Given the description of an element on the screen output the (x, y) to click on. 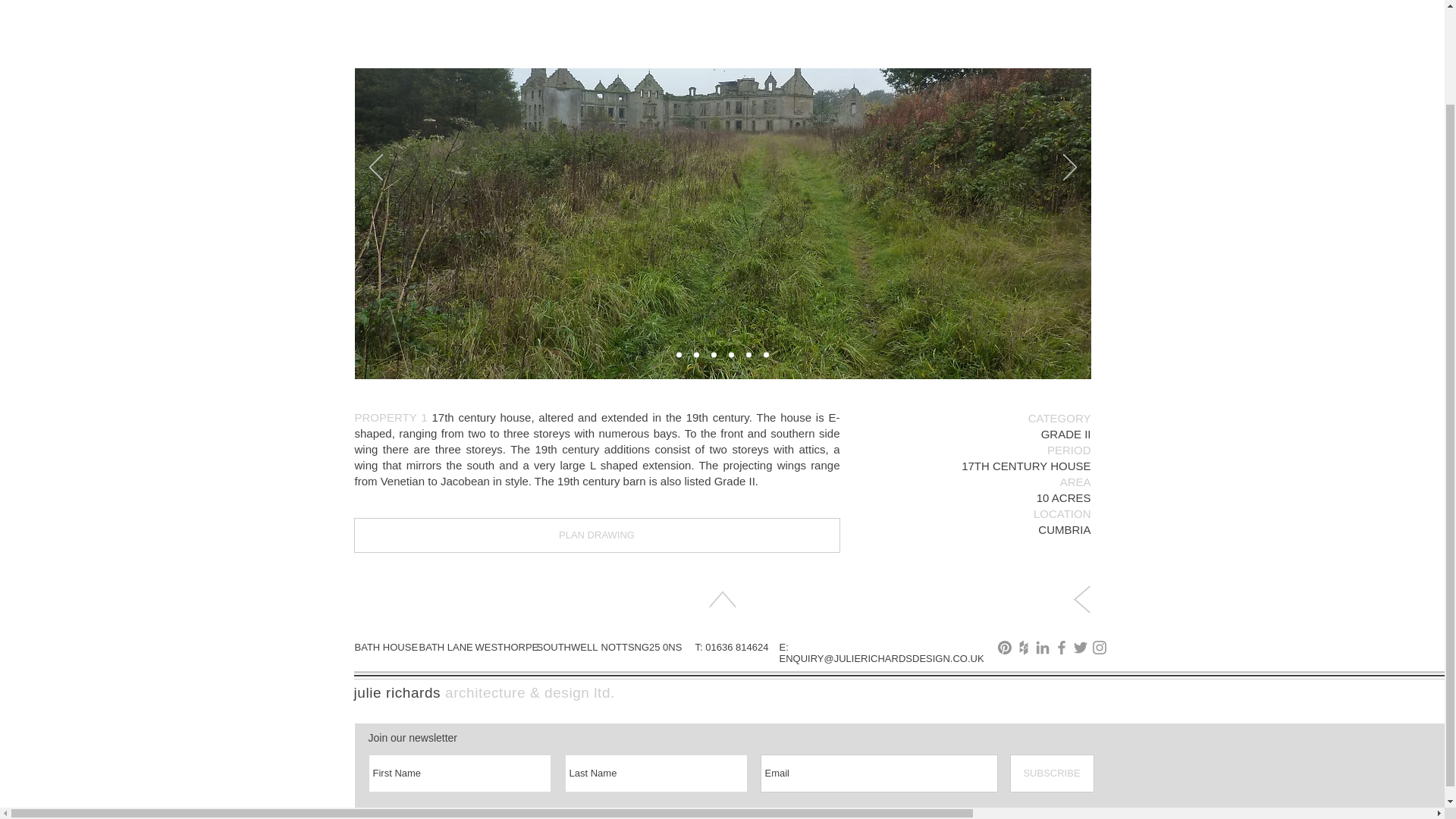
PLAN DRAWING (596, 534)
WESTHORPE (506, 646)
T: 01636 814624 (731, 646)
NG25 0NS (657, 646)
BATH LANE (445, 646)
BATH HOUSE (387, 646)
NOTTS (616, 646)
SOUTHWELL (567, 646)
SUBSCRIBE (1052, 773)
